Given the description of an element on the screen output the (x, y) to click on. 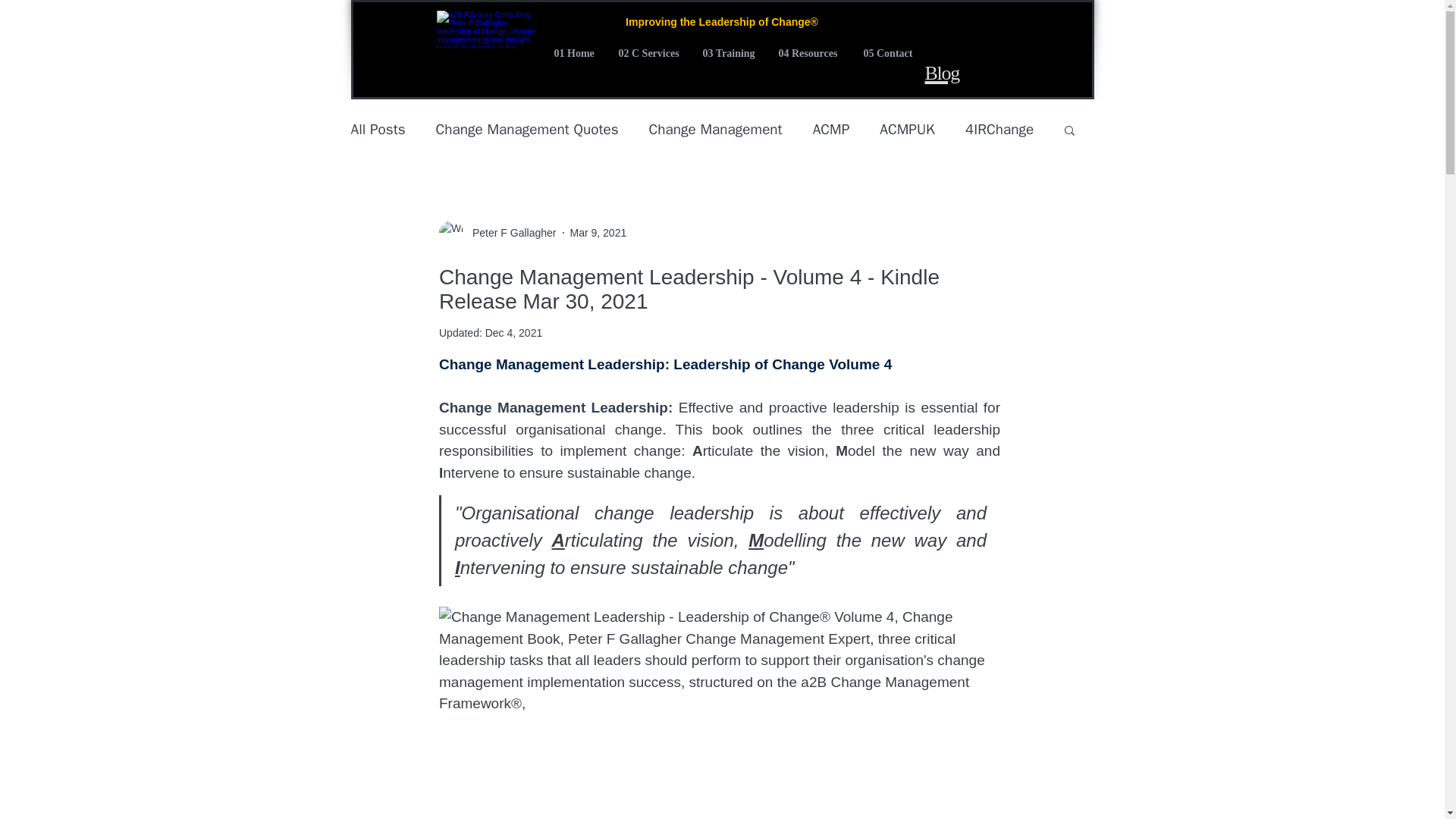
ACMP (831, 129)
Dec 4, 2021 (513, 332)
Change Management (716, 129)
All Posts (377, 129)
Blog (941, 72)
4IRChange (999, 129)
ACMPUK (906, 129)
Change Management Quotes (526, 129)
Mar 9, 2021 (598, 232)
Peter F Gallagher (509, 232)
